Given the description of an element on the screen output the (x, y) to click on. 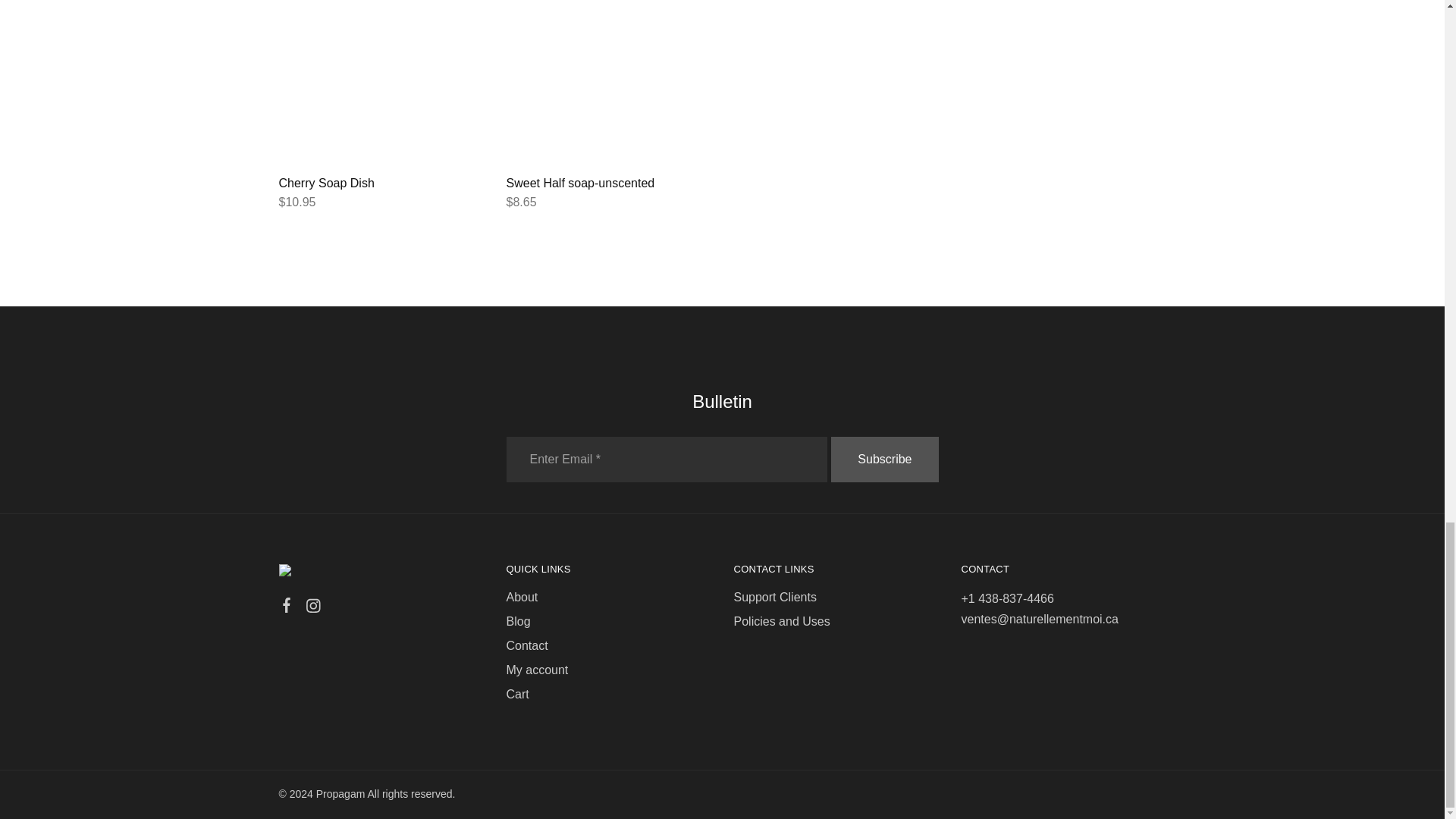
Instagram (312, 608)
Facebook (286, 607)
Subscribe (884, 459)
